Given the description of an element on the screen output the (x, y) to click on. 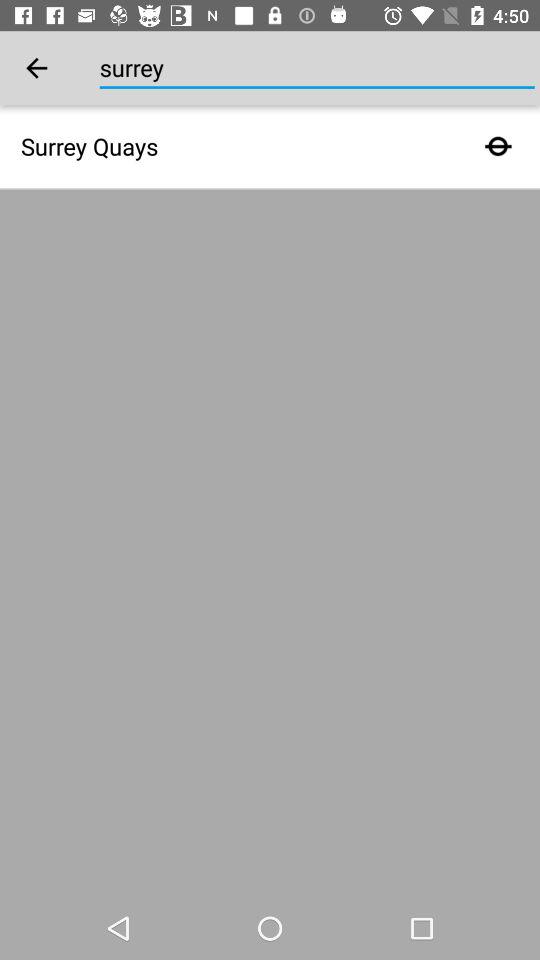
tap icon to the left of the surrey (36, 68)
